Given the description of an element on the screen output the (x, y) to click on. 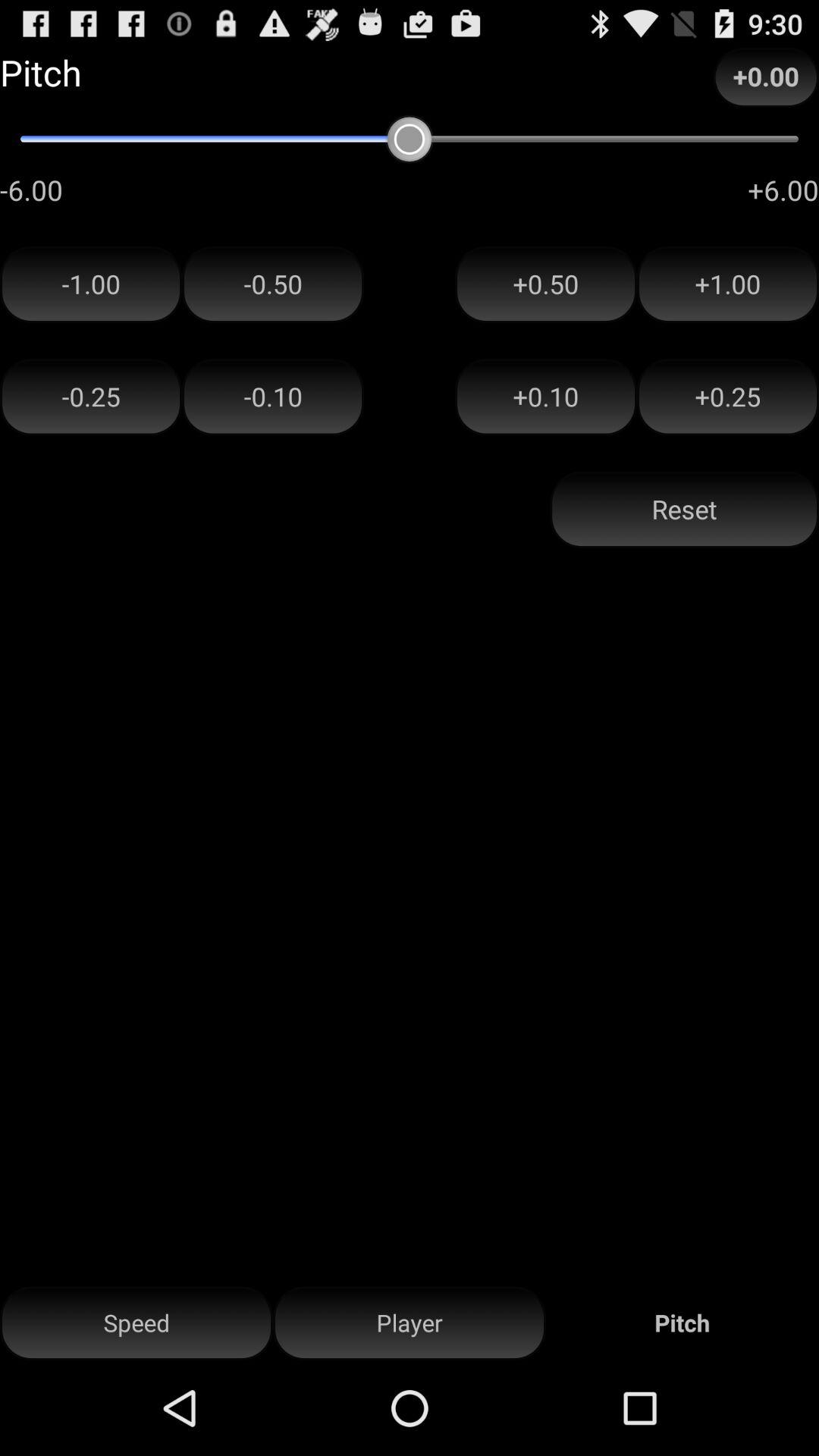
click the icon next to the pitch app (409, 1323)
